Given the description of an element on the screen output the (x, y) to click on. 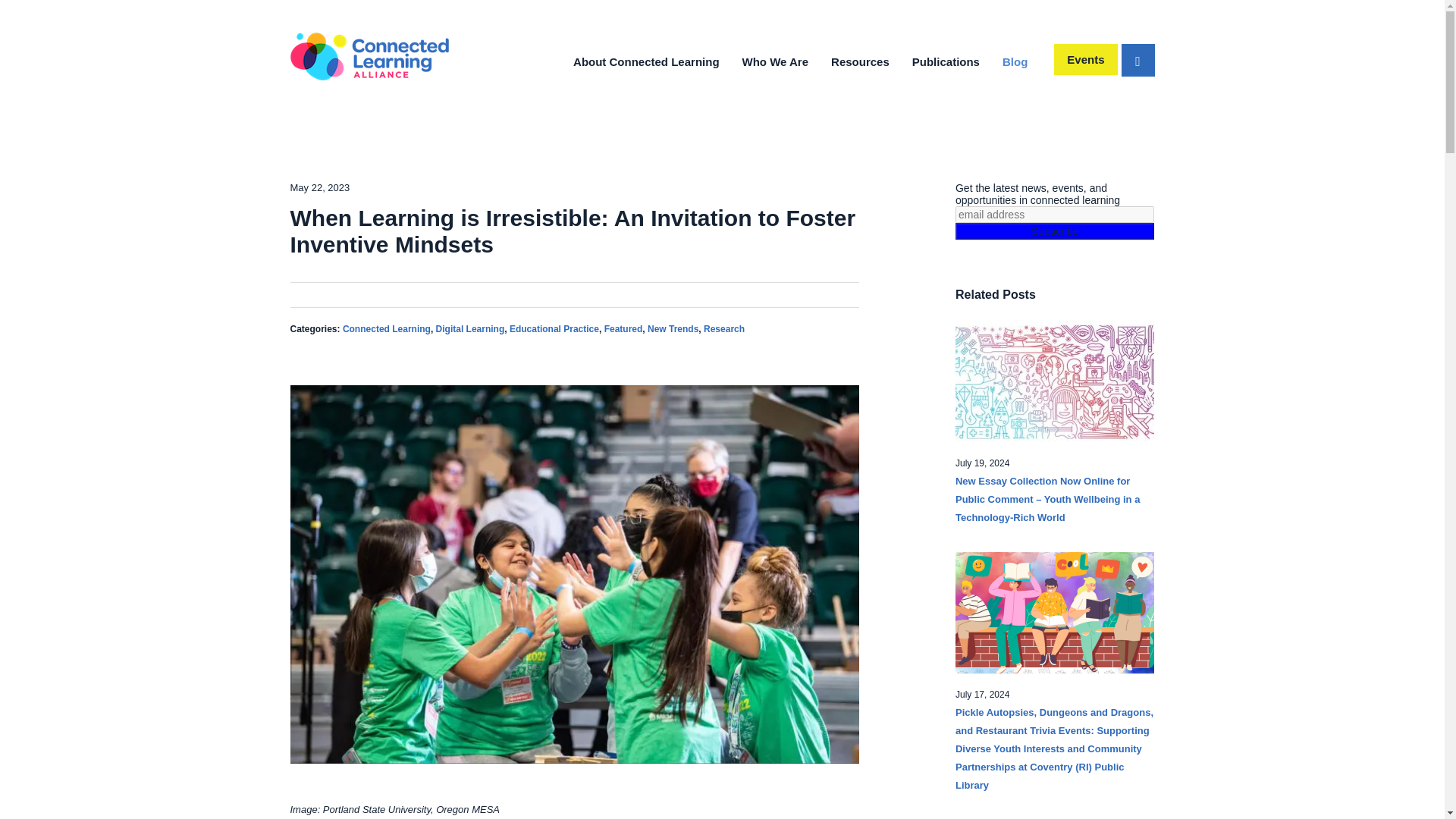
Subscribe (1054, 230)
Research (723, 328)
Events (1085, 59)
Who We Are (775, 61)
Educational Practice (553, 328)
New Trends (672, 328)
Resources (860, 61)
Connected Learning (386, 328)
Digital Learning (470, 328)
Publications (946, 61)
Featured (623, 328)
Subscribe (1054, 230)
About Connected Learning (646, 61)
